Given the description of an element on the screen output the (x, y) to click on. 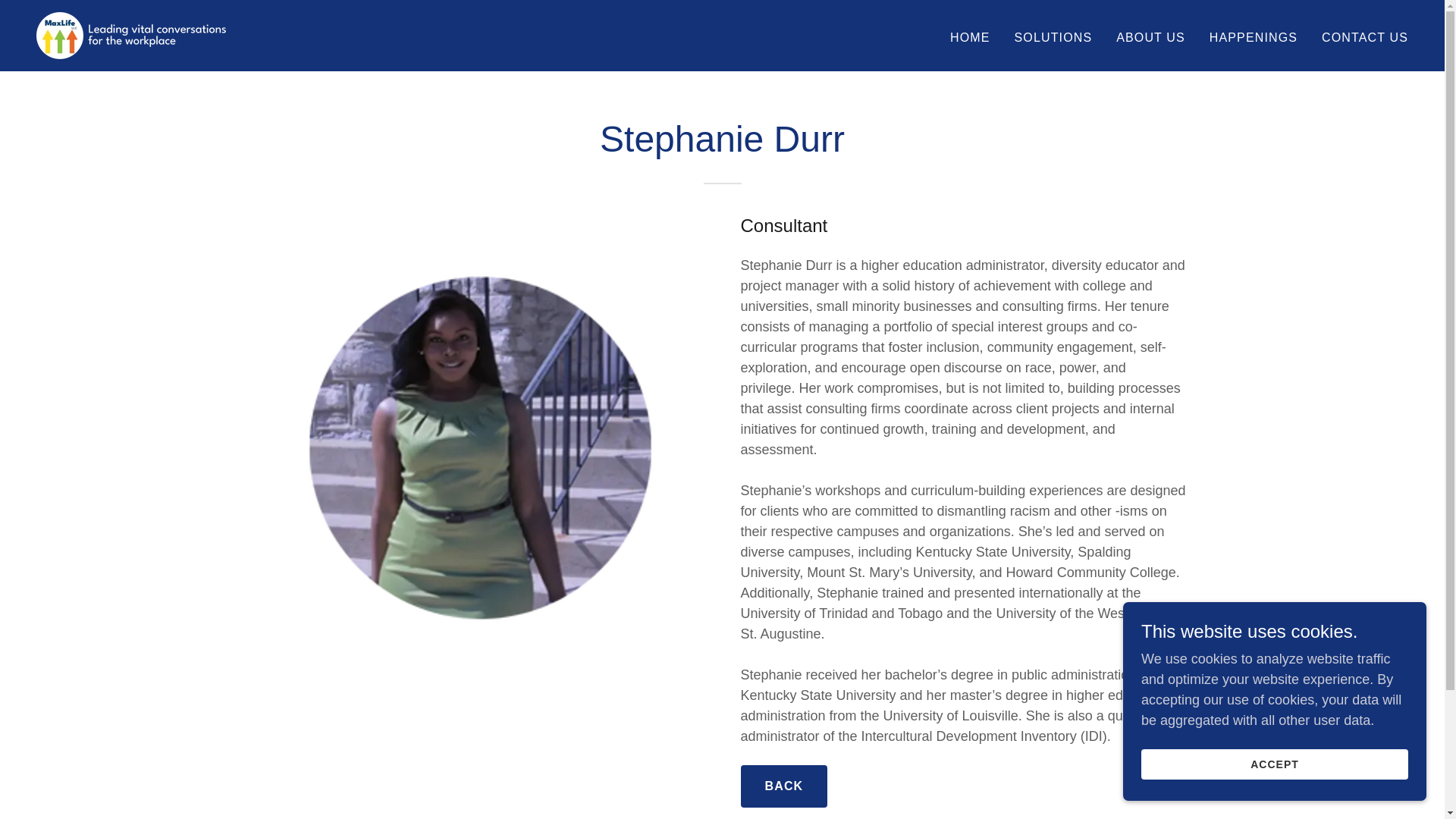
BACK (783, 785)
MaxLife LLC (130, 34)
CONTACT US (1364, 37)
HOME (969, 37)
ACCEPT (1274, 764)
ABOUT US (1150, 37)
SOLUTIONS (1053, 37)
HAPPENINGS (1253, 37)
